Given the description of an element on the screen output the (x, y) to click on. 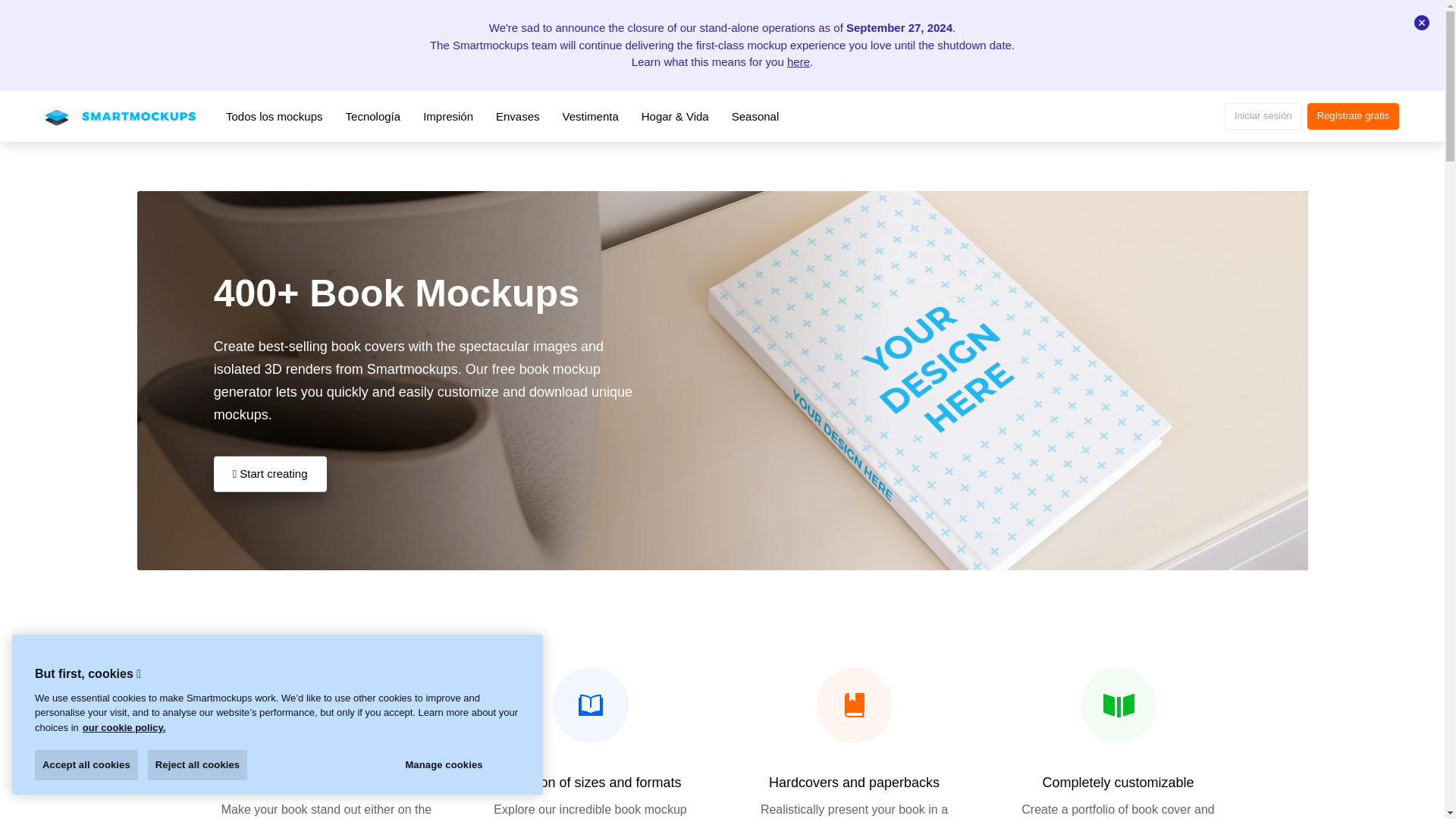
Todos los mockups (274, 116)
here (798, 61)
